Given the description of an element on the screen output the (x, y) to click on. 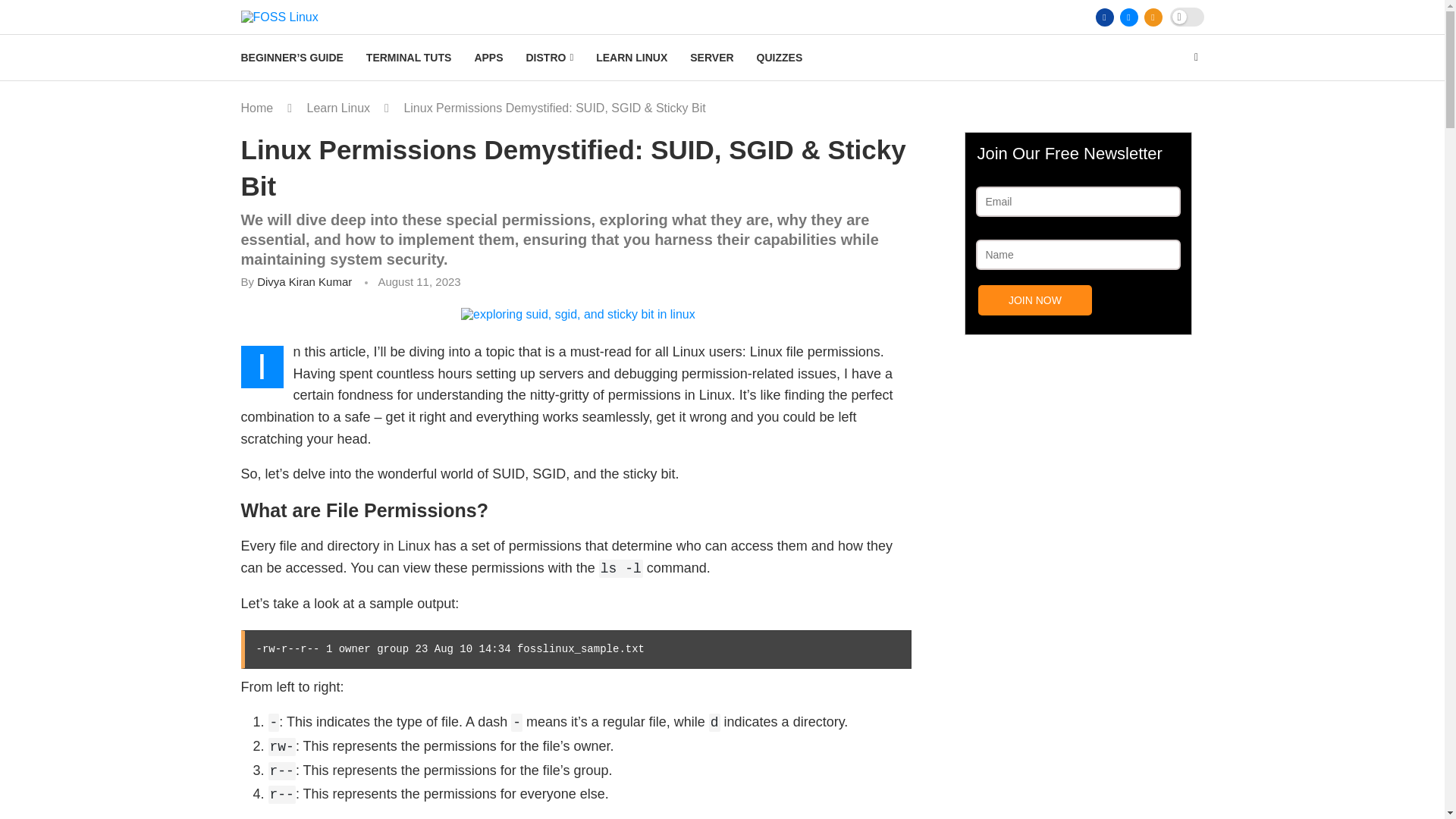
QUIZZES (780, 57)
Join Now (1035, 300)
Exploring SUID, SGID, and Sticky Bit in Linux (578, 314)
LEARN LINUX (630, 57)
DISTRO (549, 57)
TERMINAL TUTS (408, 57)
SERVER (711, 57)
